Given the description of an element on the screen output the (x, y) to click on. 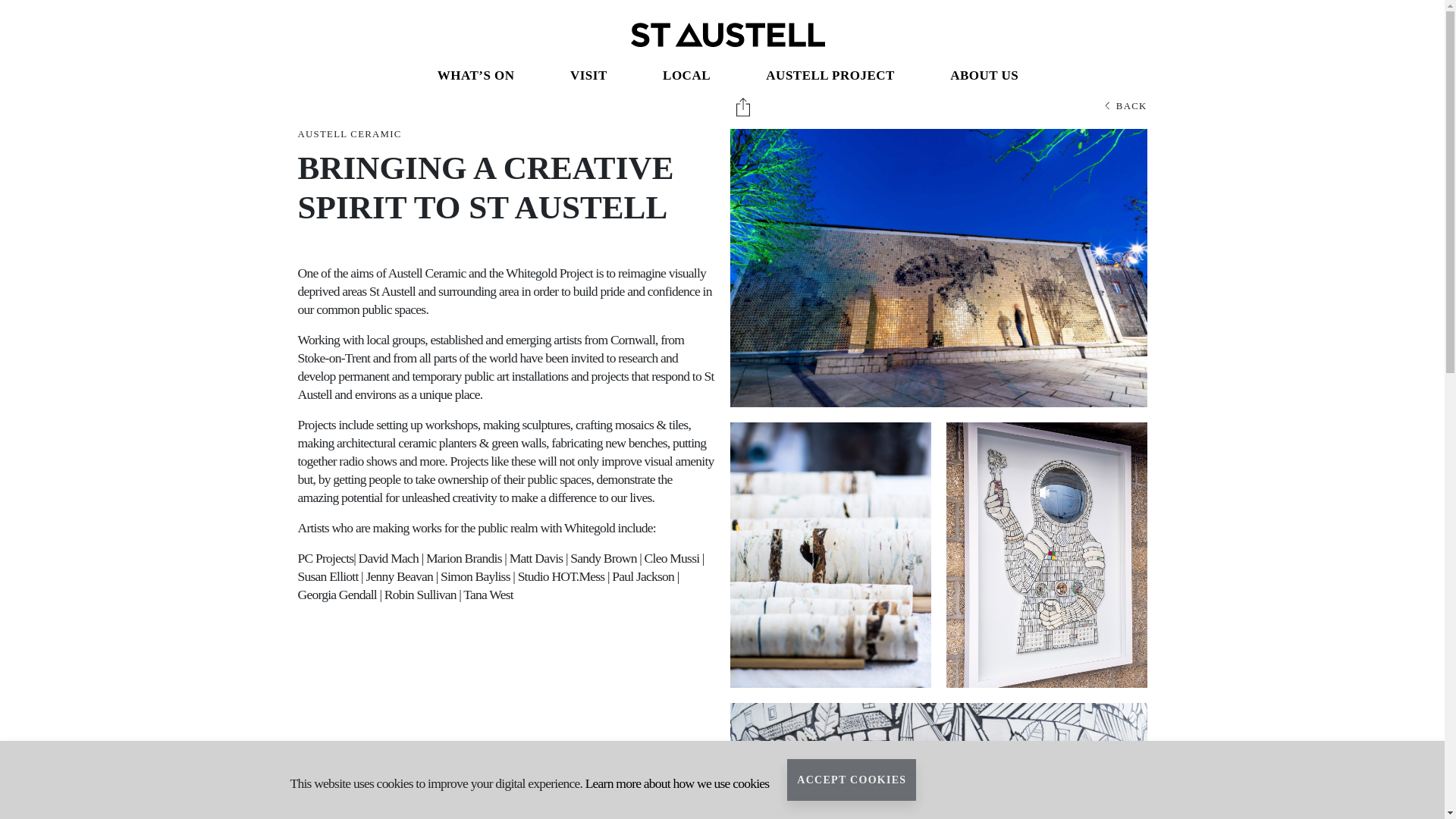
Share (743, 106)
BACK (1126, 106)
AUSTELL PROJECT (830, 80)
Austell Project (830, 80)
VISIT (587, 80)
Visit (587, 80)
LOCAL (686, 80)
Local (686, 80)
Learn more about how we use cookies (677, 782)
ACCEPT COOKIES (851, 779)
austell-project-cornish-honey-bee-completed-3 (938, 267)
austell-project-marion-brandis-33 (938, 760)
ABOUT US (983, 80)
About Us (983, 80)
